Given the description of an element on the screen output the (x, y) to click on. 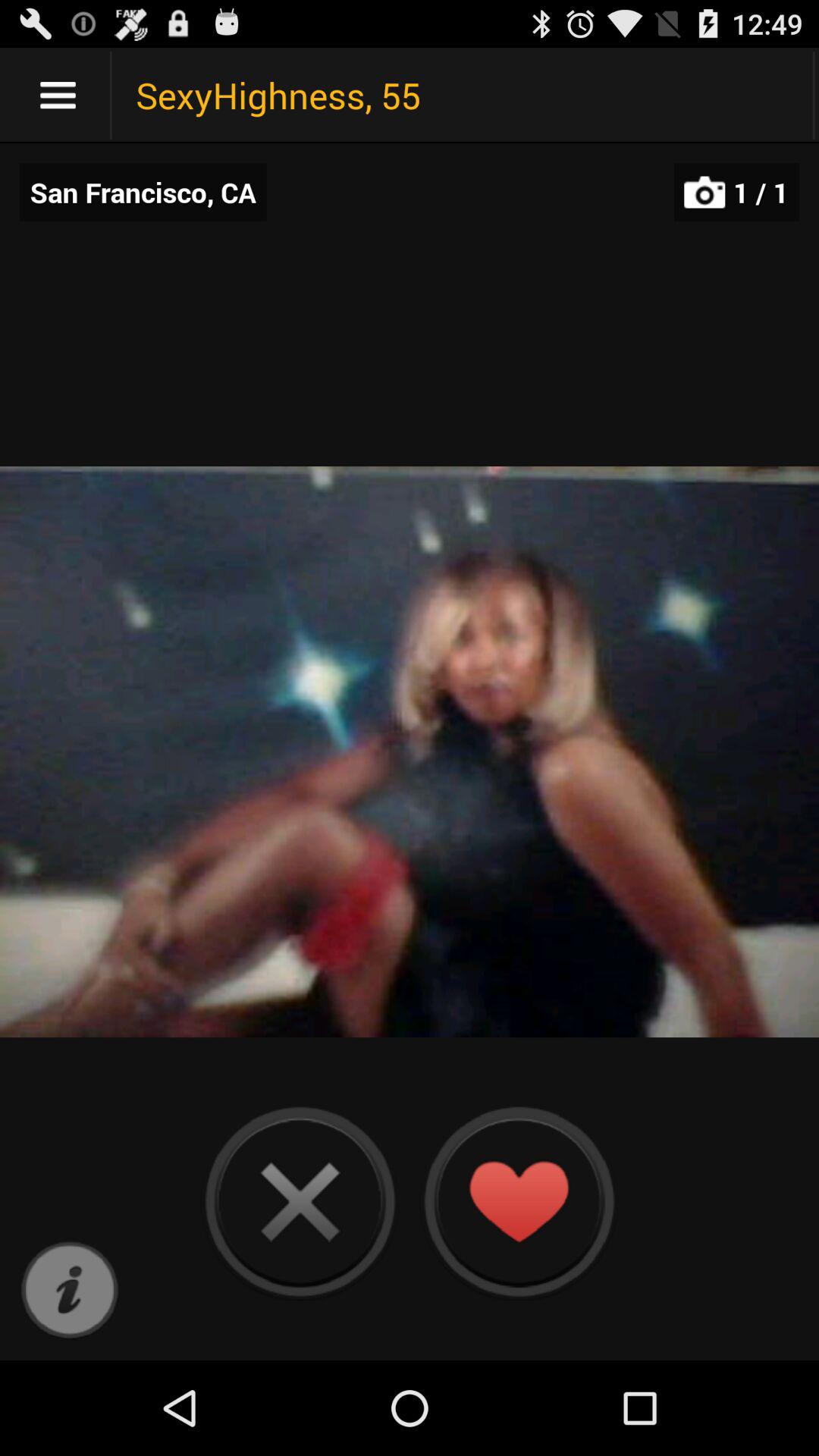
choose app below san francisco, ca (69, 1290)
